Given the description of an element on the screen output the (x, y) to click on. 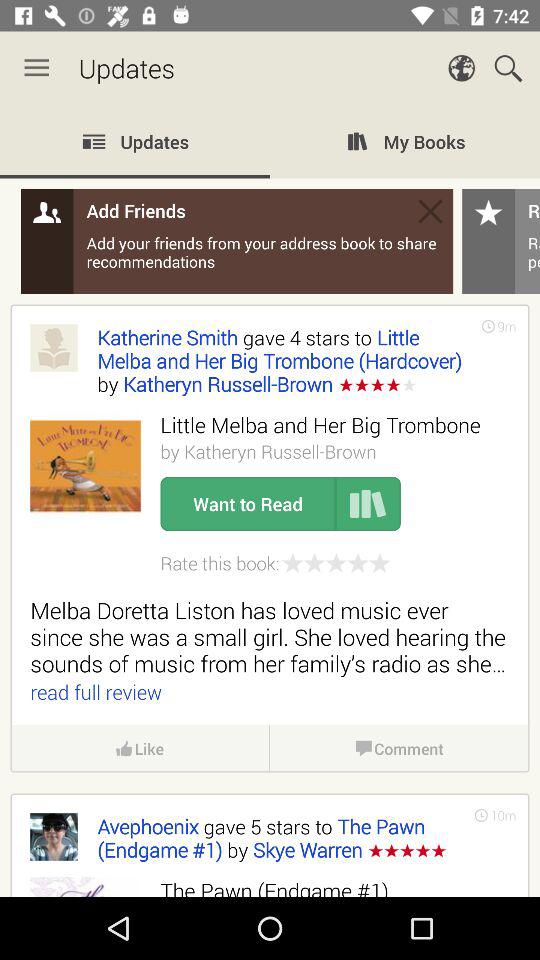
launch the rate this book: (219, 562)
